Given the description of an element on the screen output the (x, y) to click on. 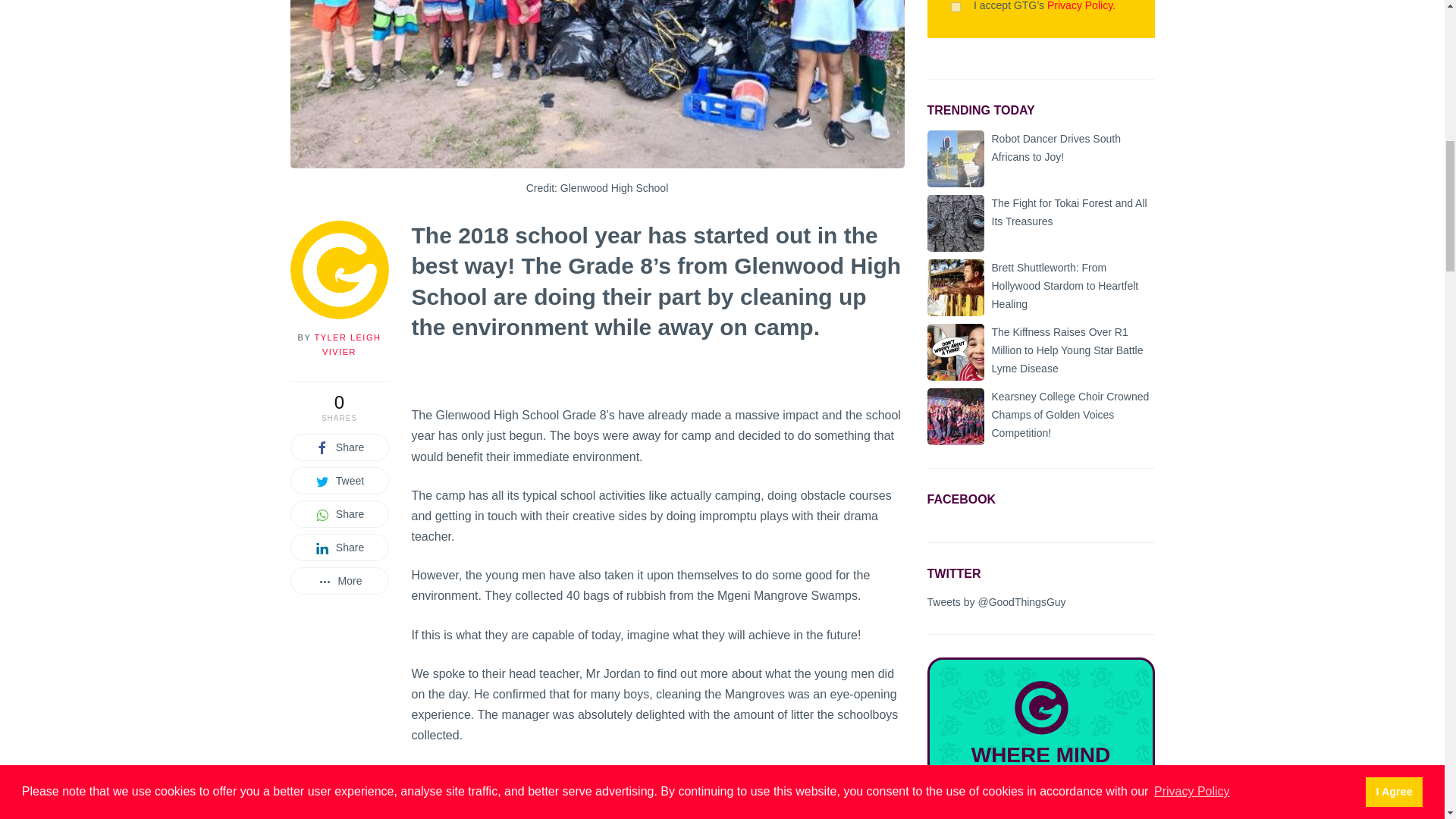
Share on LinkedIn (338, 547)
Share (338, 447)
More (338, 580)
Share on Whatsapp (338, 513)
TYLER LEIGH VIVIER (347, 344)
Tweet (338, 480)
Share on Facebook (338, 447)
Yes (955, 7)
Share on Twitter (338, 480)
